Given the description of an element on the screen output the (x, y) to click on. 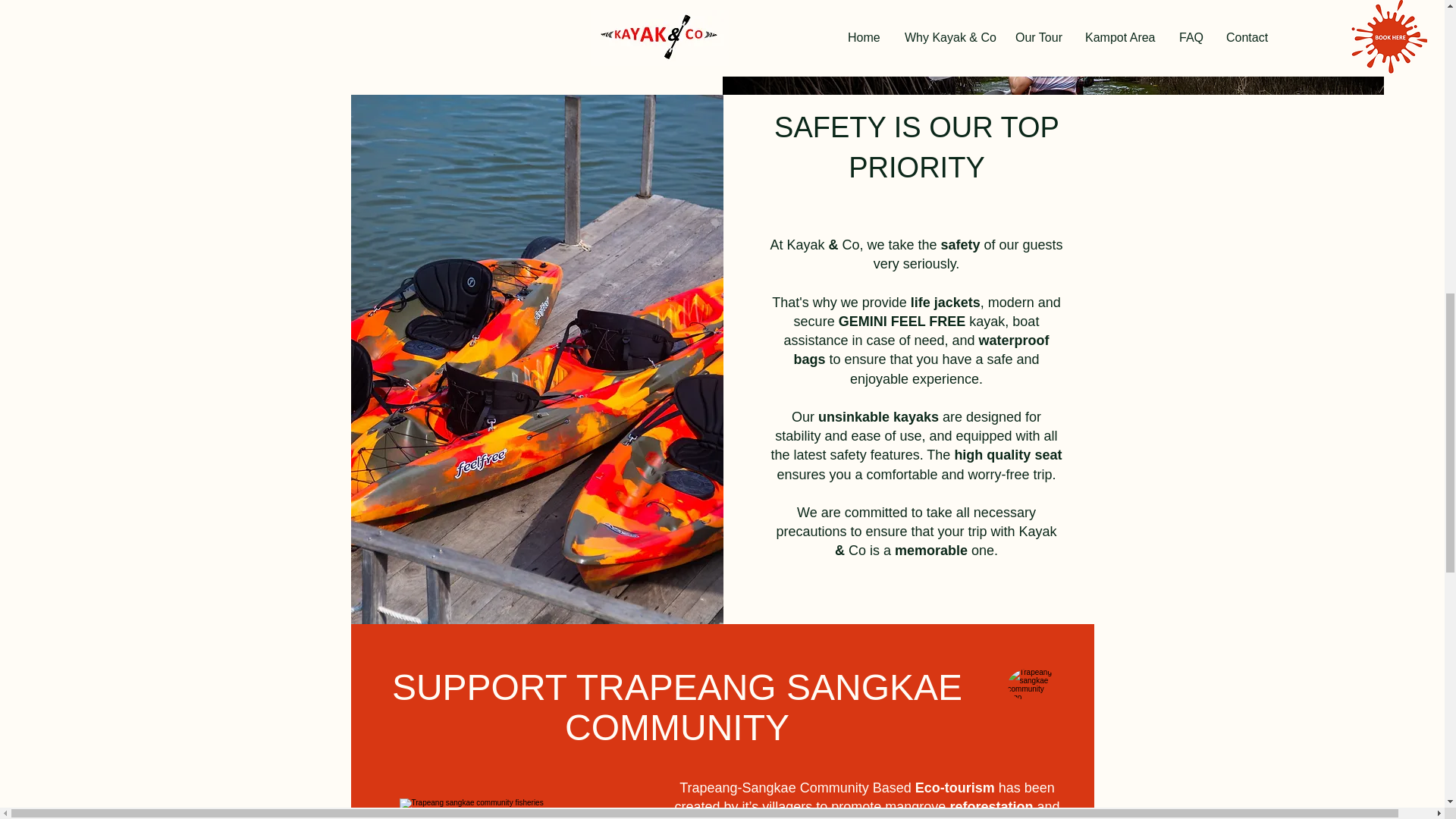
Beige and Brown Pastel Simple Minimalist (1032, 693)
